Given the description of an element on the screen output the (x, y) to click on. 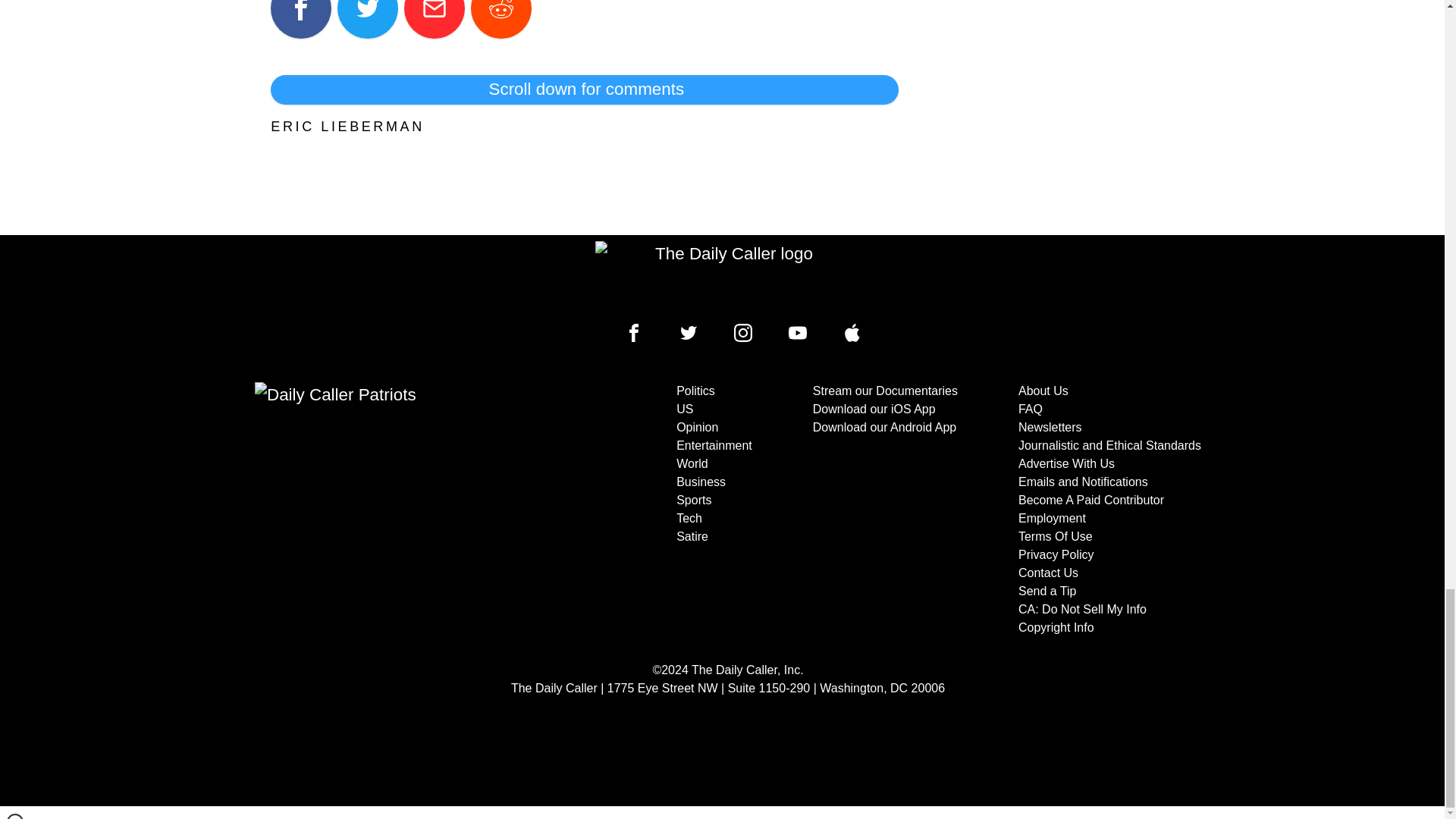
Subscribe to The Daily Caller (405, 509)
Daily Caller YouTube (797, 332)
Scroll down for comments (584, 89)
Daily Caller Instagram (742, 332)
Daily Caller Twitter (688, 332)
To home page (727, 276)
Daily Caller Facebook (633, 332)
Daily Caller YouTube (852, 332)
